Given the description of an element on the screen output the (x, y) to click on. 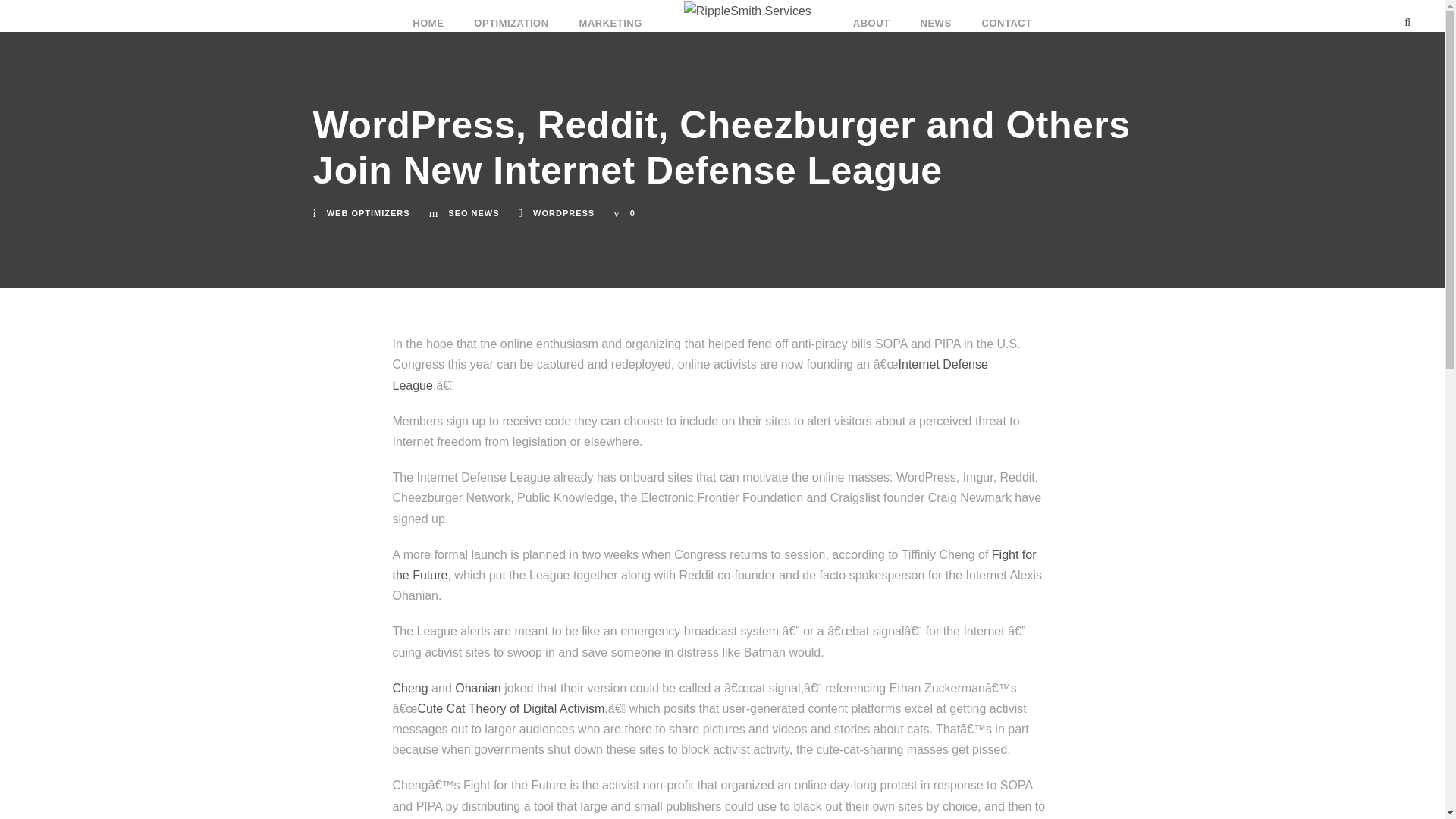
Posts by Web Optimizers (368, 212)
WORDPRESS (563, 212)
CONTACT (1006, 15)
Ohanian (477, 687)
MARKETING (610, 15)
Cute Cat Theory of Digital Activism (510, 707)
RippleSmith Services (747, 10)
ABOUT (871, 15)
Internet Defense League (690, 374)
HOME (428, 15)
